Given the description of an element on the screen output the (x, y) to click on. 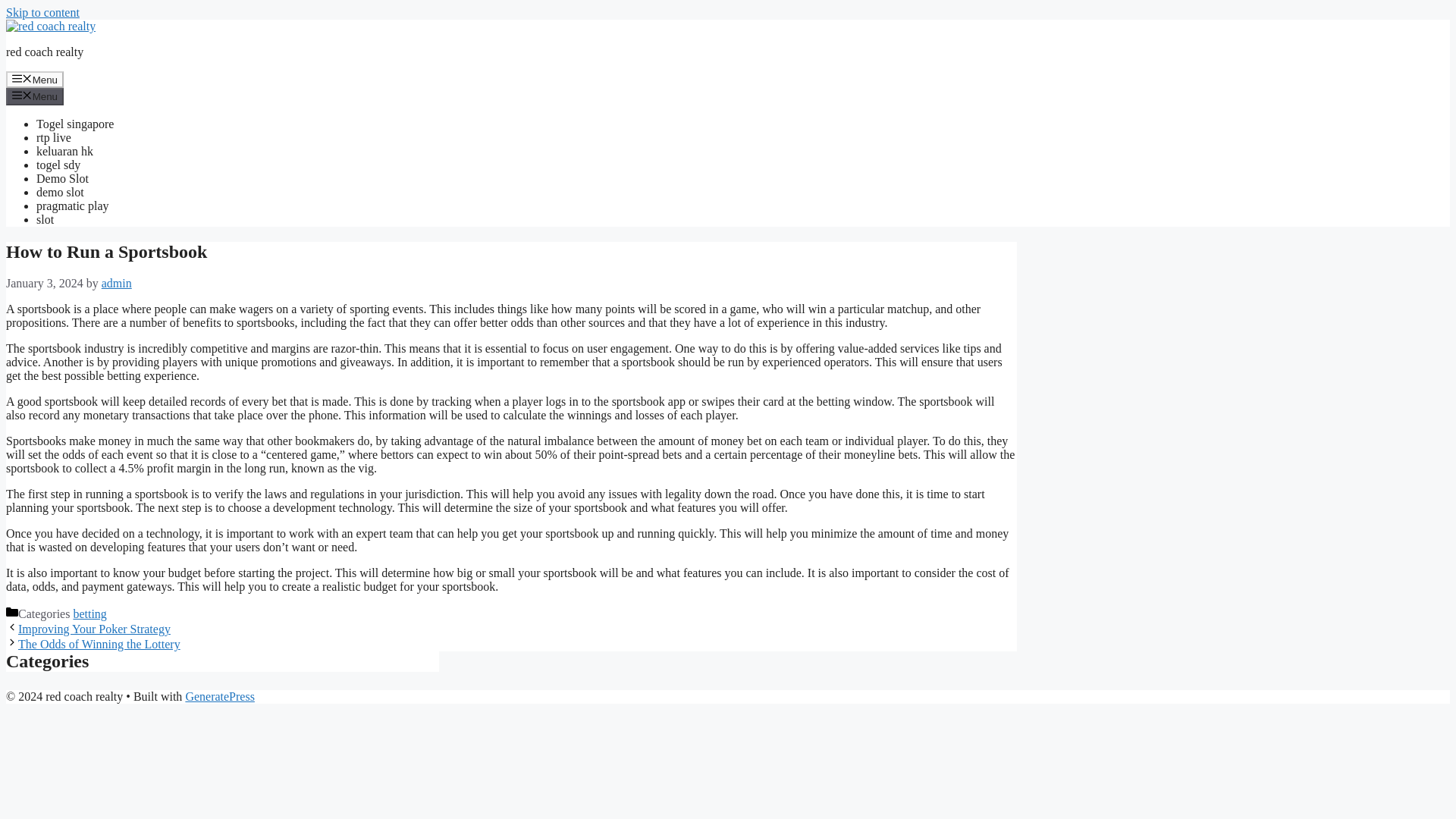
togel sdy (58, 164)
admin (116, 282)
rtp live (53, 137)
betting (89, 613)
Menu (34, 95)
Improving Your Poker Strategy (93, 628)
Skip to content (42, 11)
Togel singapore (74, 123)
red coach realty (43, 51)
keluaran hk (64, 151)
